Given the description of an element on the screen output the (x, y) to click on. 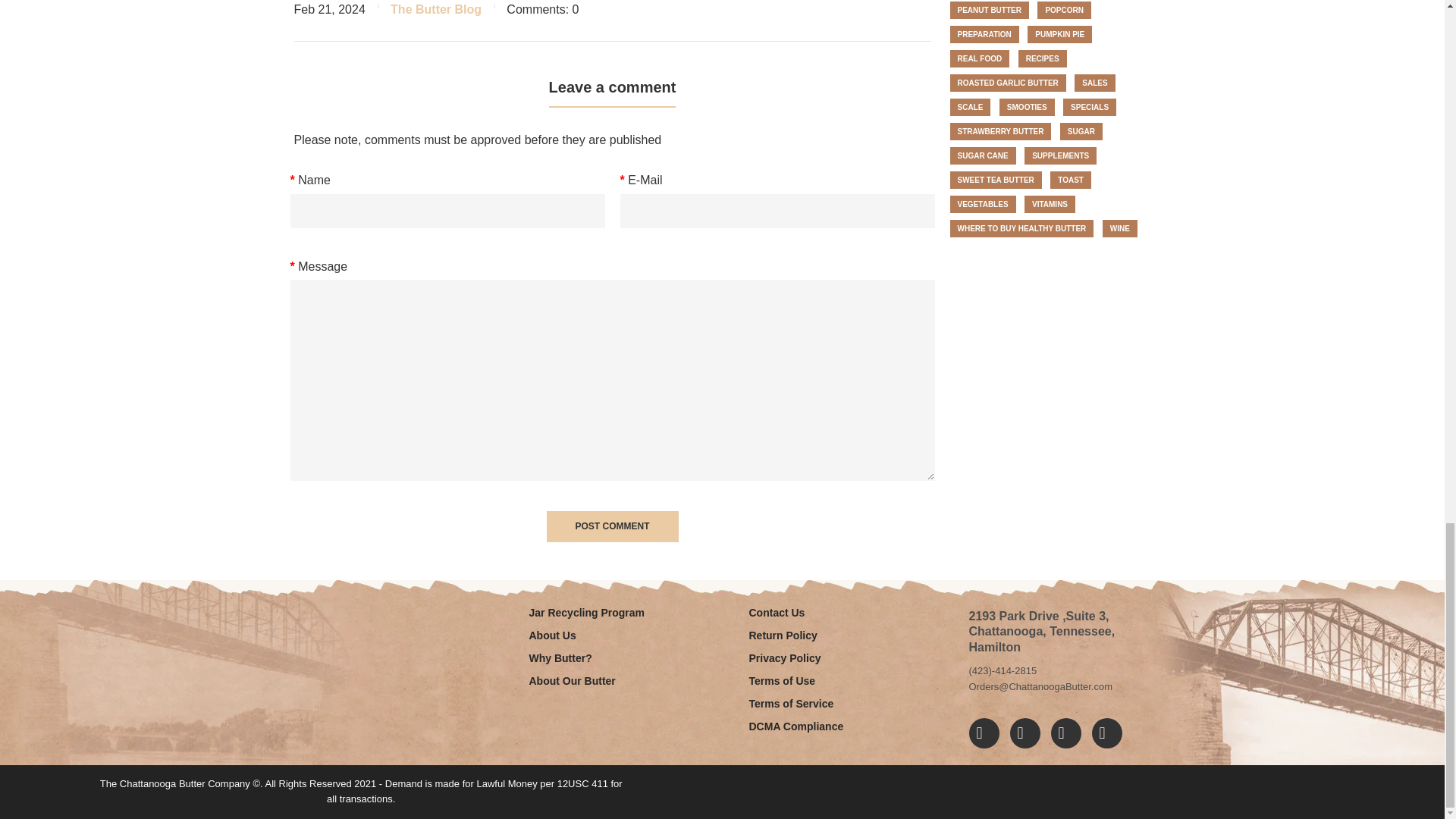
The Butter Blog (435, 9)
POST COMMENT (612, 526)
